Given the description of an element on the screen output the (x, y) to click on. 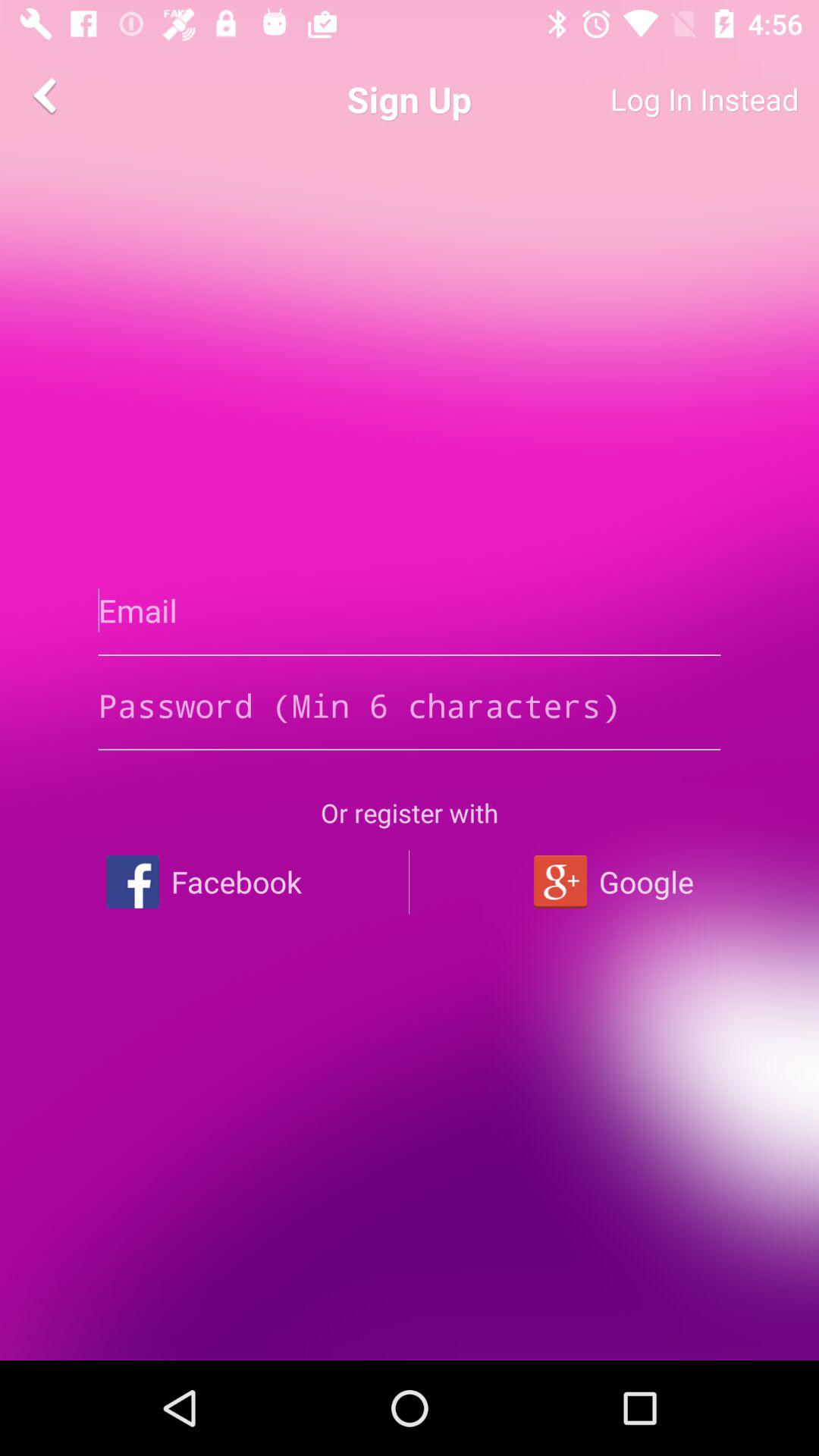
launch log in instead item (649, 99)
